Given the description of an element on the screen output the (x, y) to click on. 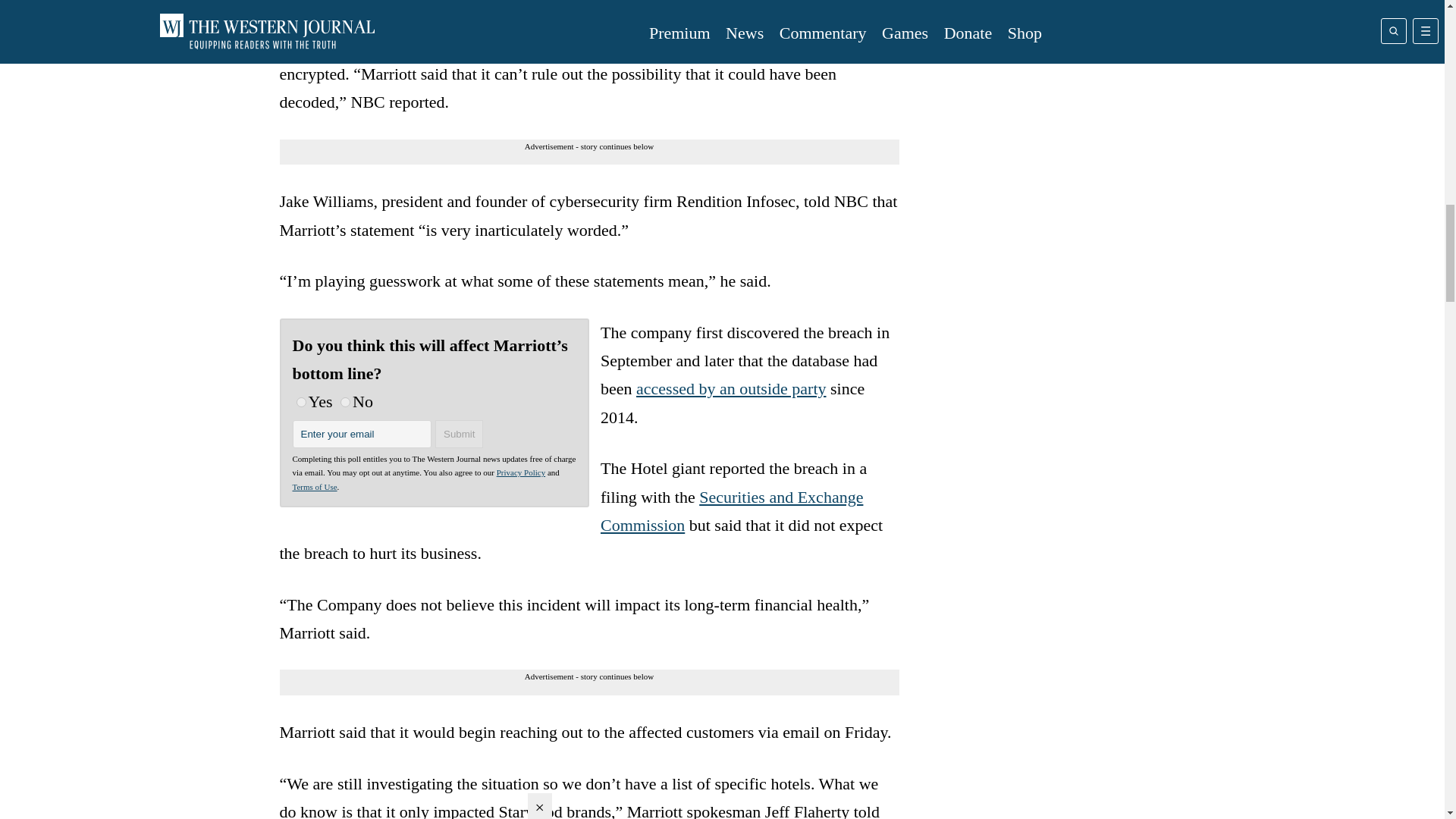
no (345, 402)
Submit (459, 433)
yes (300, 402)
